Given the description of an element on the screen output the (x, y) to click on. 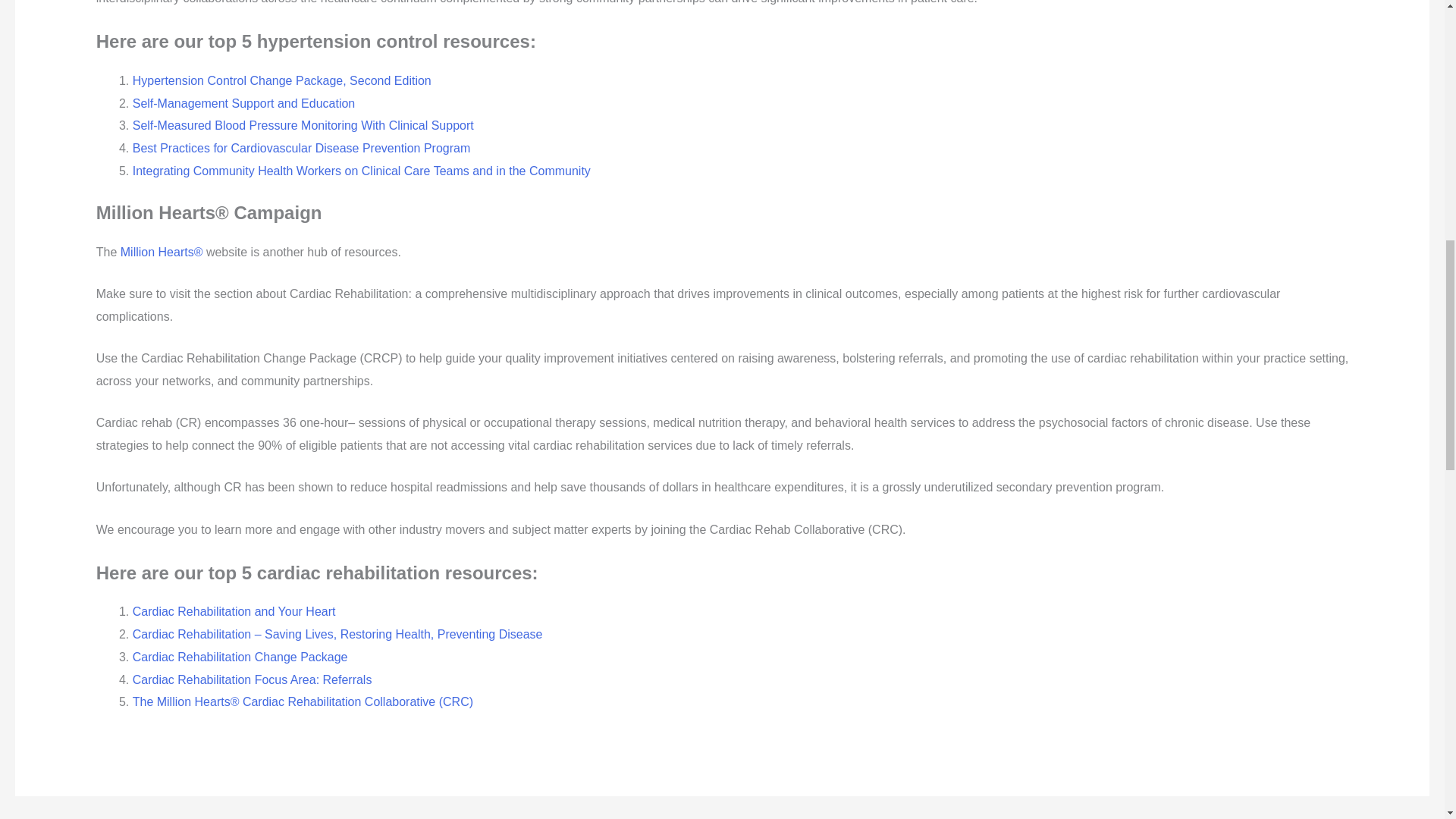
Best Practices for Cardiovascular Disease Prevention Program (301, 147)
Cardiac Rehabilitation and Your Heart (234, 611)
Self-Management Support and Education (243, 103)
Hypertension Control Change Package, Second Edition (281, 80)
